Given the description of an element on the screen output the (x, y) to click on. 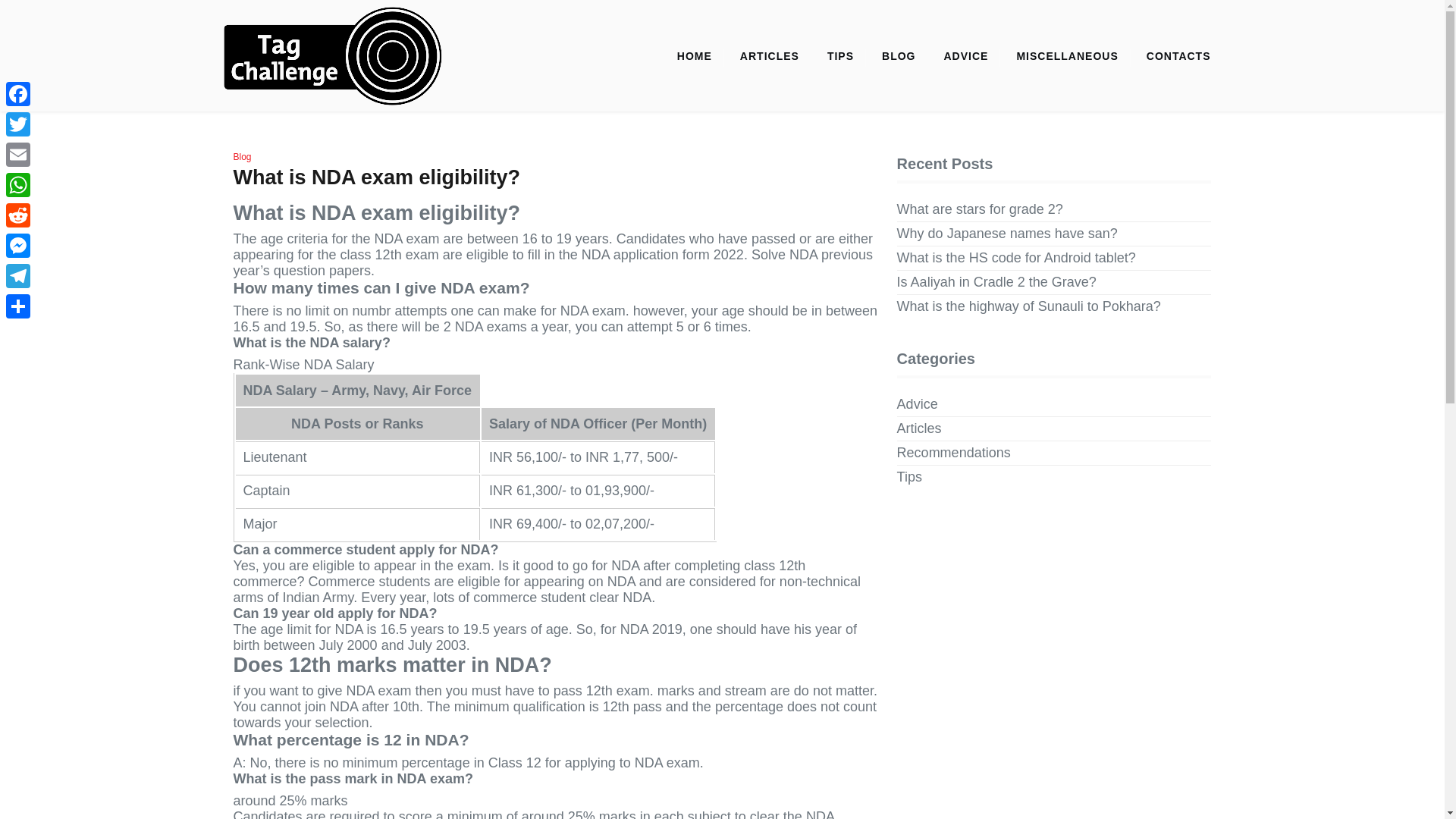
HOME (694, 55)
Email (17, 154)
Is Aaliyah in Cradle 2 the Grave? (996, 282)
BLOG (898, 55)
Tips (908, 477)
Facebook (17, 93)
Messenger (17, 245)
What is the HS code for Android tablet? (1015, 258)
Telegram (17, 276)
ARTICLES (769, 55)
